Given the description of an element on the screen output the (x, y) to click on. 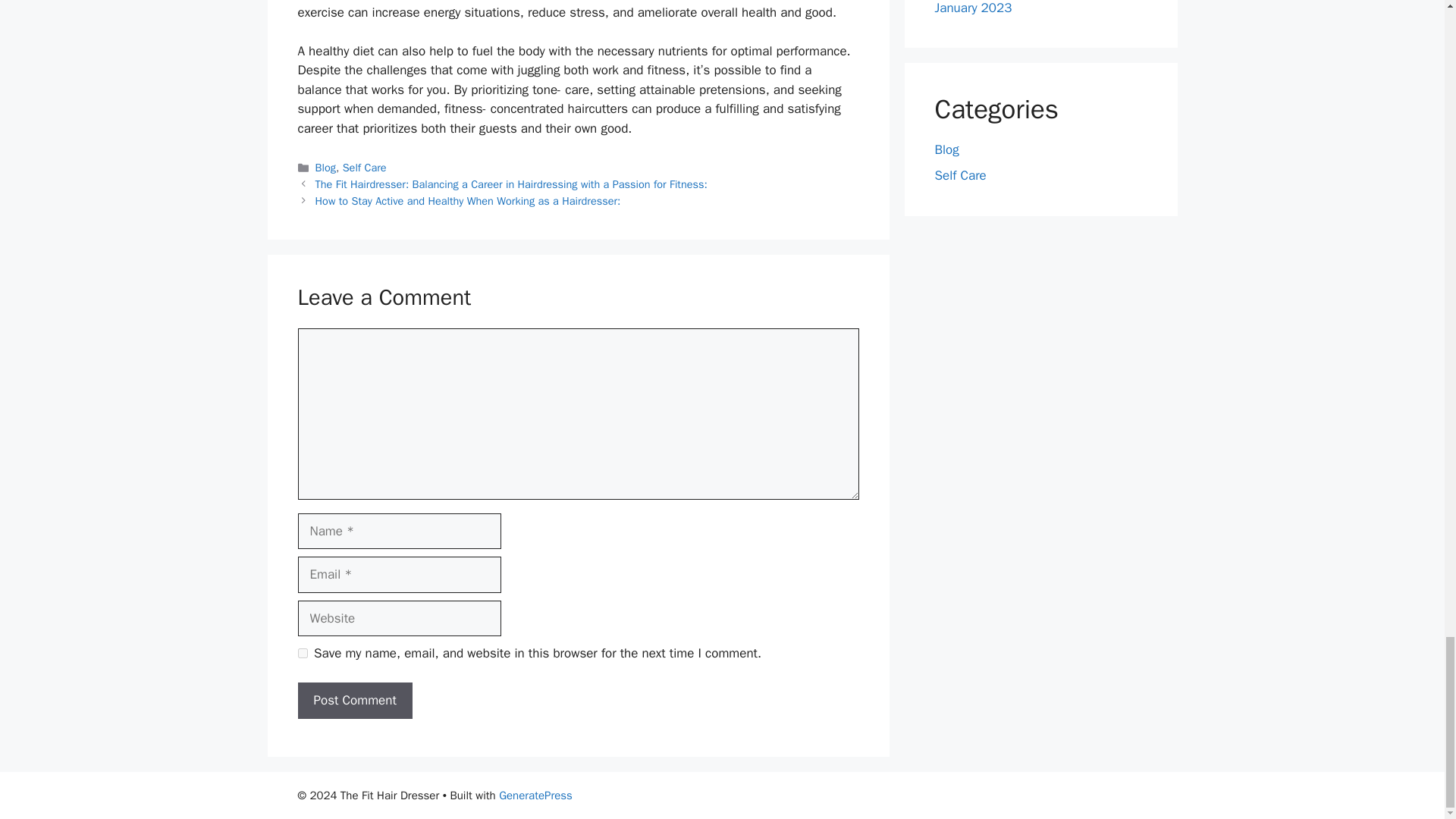
Post Comment (354, 700)
Post Comment (354, 700)
Blog (325, 167)
Self Care (364, 167)
yes (302, 653)
